Given the description of an element on the screen output the (x, y) to click on. 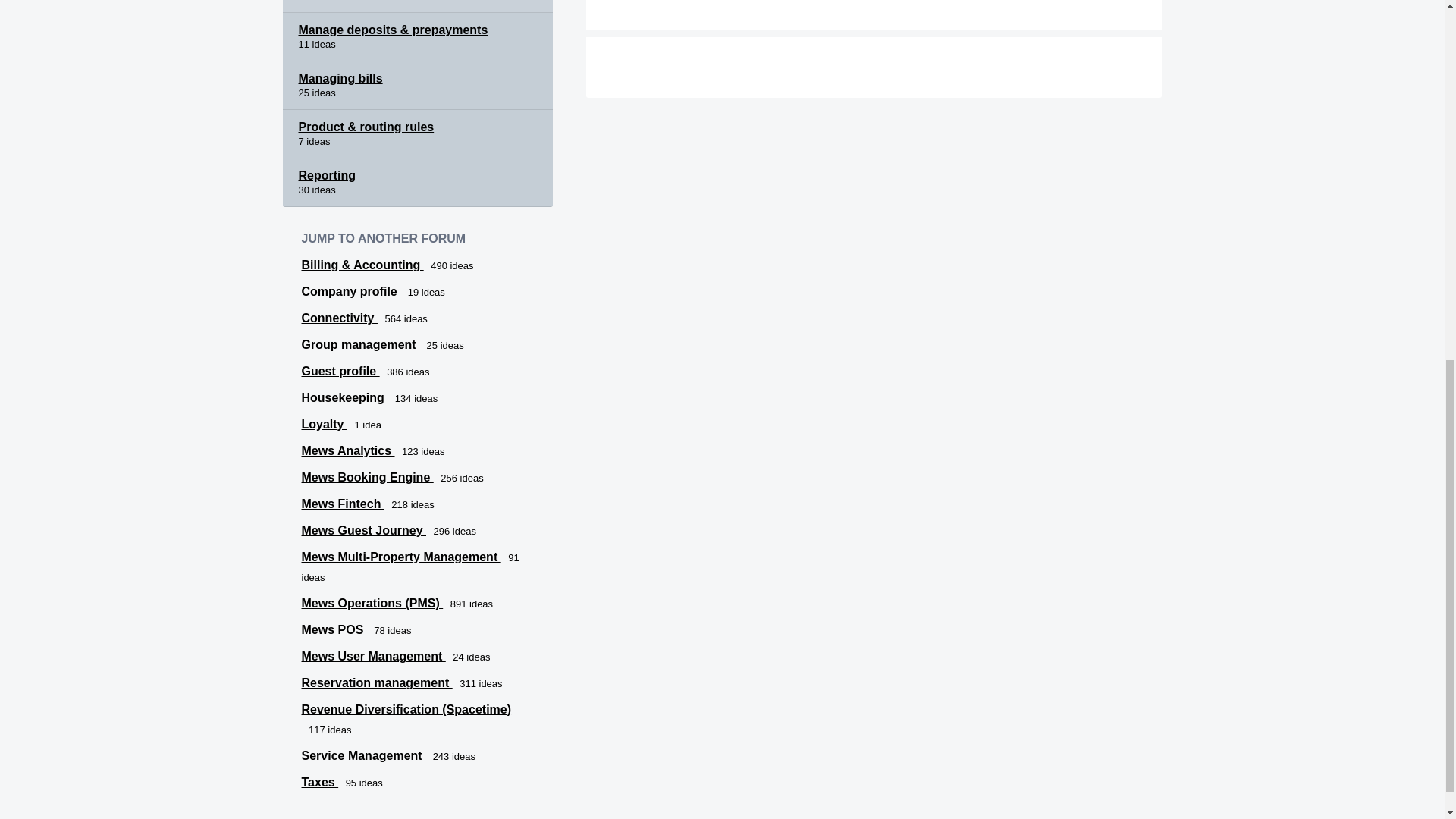
Group management (360, 344)
Managing bills (417, 85)
View all ideas in Group management (360, 344)
Mews Booking Engine (367, 477)
Company profile (351, 291)
View all ideas in category Managing bills (417, 85)
View all ideas in Connectivity (339, 318)
View all ideas in Mews Booking Engine (367, 477)
Mews Guest Journey (363, 530)
Mews Analytics (347, 450)
View all ideas in Guest profile (340, 370)
View all ideas in Loyalty (324, 423)
Mews POS (333, 629)
View all ideas in category Reporting (417, 182)
View all ideas in Housekeeping (344, 397)
